Given the description of an element on the screen output the (x, y) to click on. 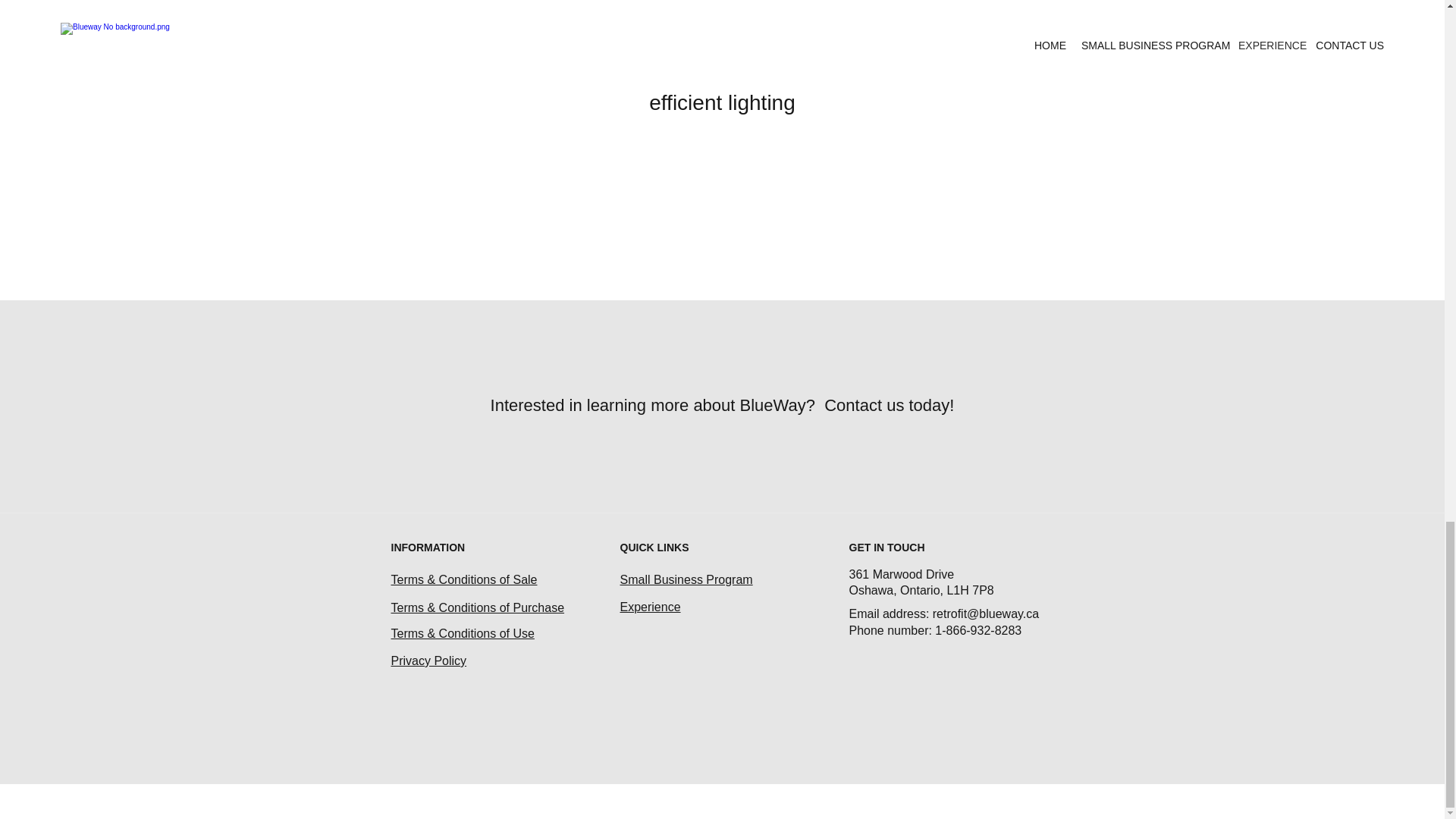
Small Business Program (686, 579)
Privacy Policy (429, 660)
Experience (650, 606)
